Given the description of an element on the screen output the (x, y) to click on. 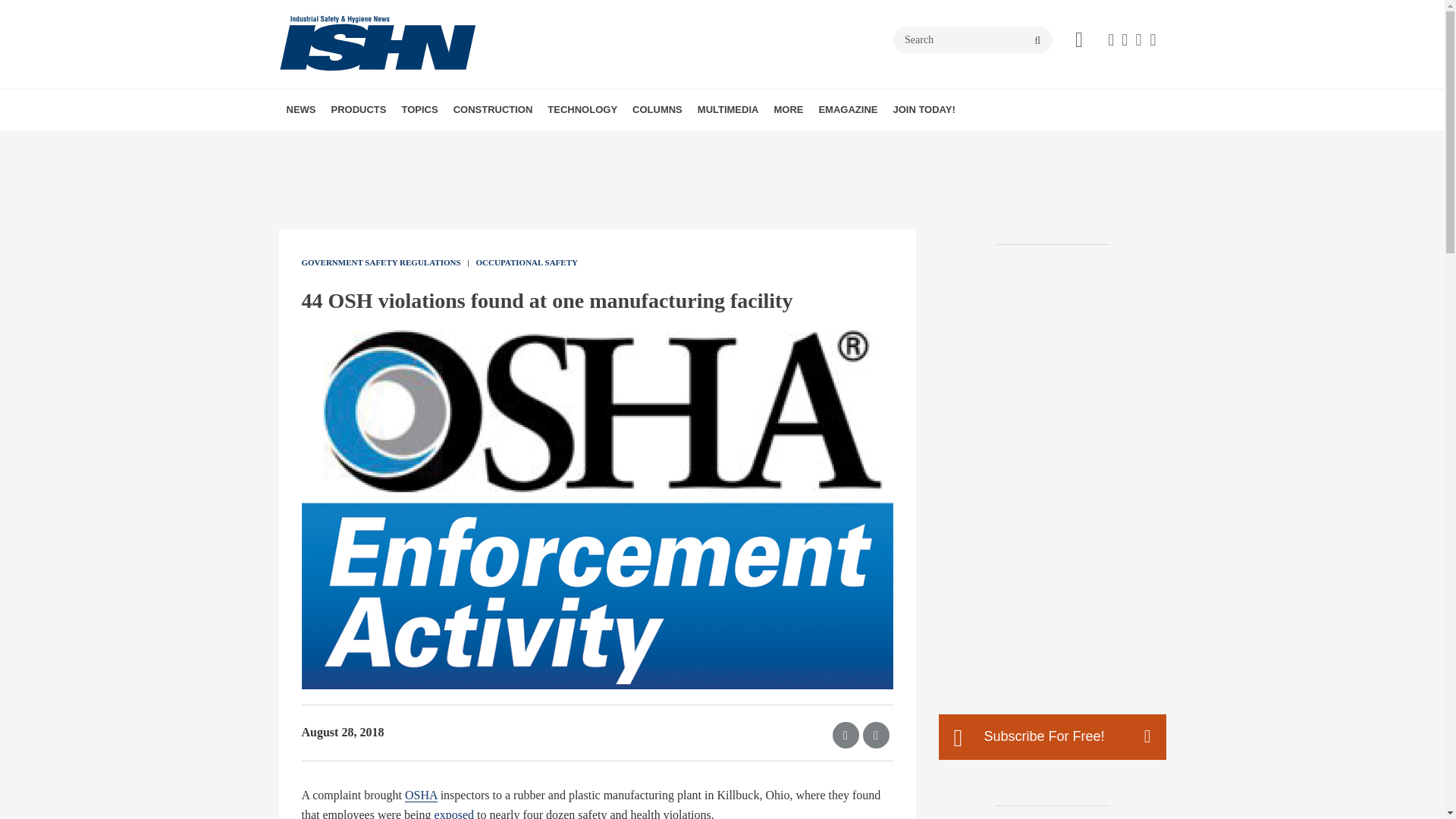
VIDEOS (801, 142)
GLOBAL SAFETY NEWS (380, 142)
PPE (519, 142)
FACILITY SAFETY (500, 142)
ENVIRONMENTAL HEALTH AND SAFETY (488, 151)
PRODUCT INNOVATIONS (417, 142)
CONSTRUCTION (492, 109)
WORKPLACE HEALTH (510, 142)
MORE TOPICS (522, 142)
FEATURED PRODUCTS (424, 142)
